Given the description of an element on the screen output the (x, y) to click on. 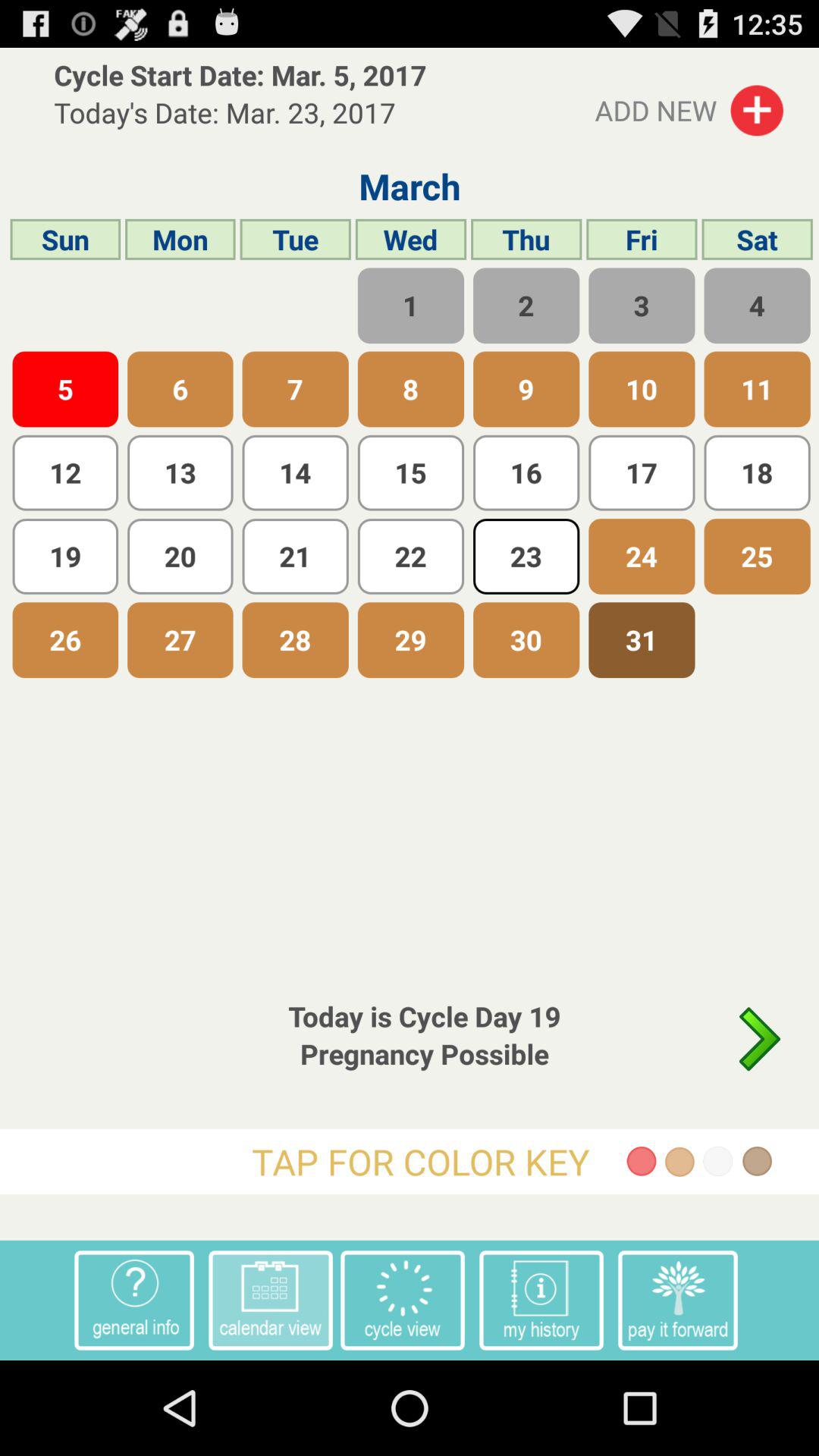
select 14 (295, 473)
